Given the description of an element on the screen output the (x, y) to click on. 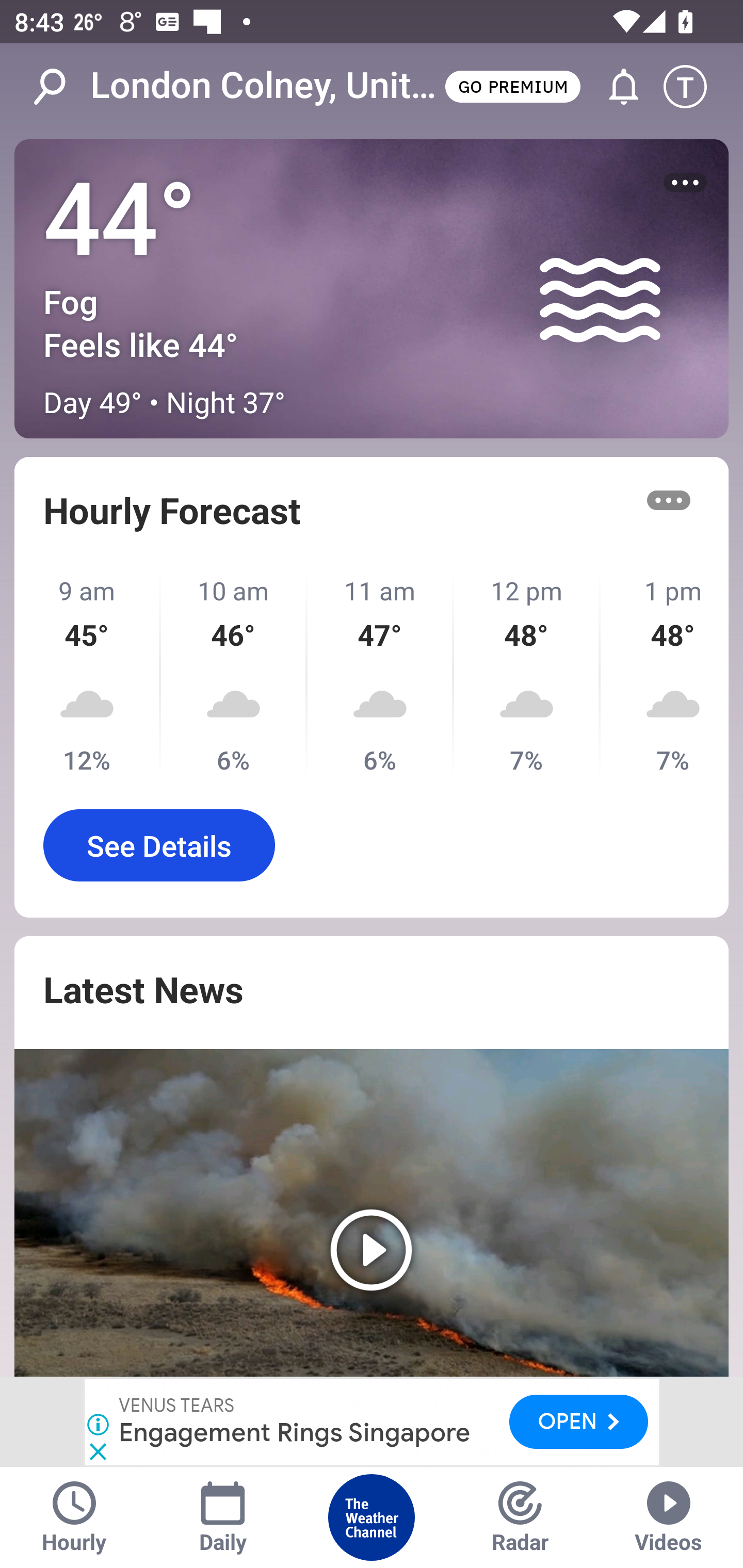
Search (59, 86)
Go to Alerts and Notifications (614, 86)
Setting icon T (694, 86)
London Colney, United Kingdom (265, 85)
GO PREMIUM (512, 85)
More options (684, 182)
More options (668, 500)
9 am 45° 12% (87, 674)
10 am 46° 6% (234, 674)
11 am 47° 6% (380, 674)
12 pm 48° 7% (526, 674)
1 pm 48° 7% (664, 674)
See Details (158, 845)
Play (371, 1212)
VENUS TEARS (176, 1405)
OPEN (578, 1420)
Engagement Rings Singapore (295, 1431)
Hourly Tab Hourly (74, 1517)
Daily Tab Daily (222, 1517)
Radar Tab Radar (519, 1517)
Videos Tab Videos (668, 1517)
